Given the description of an element on the screen output the (x, y) to click on. 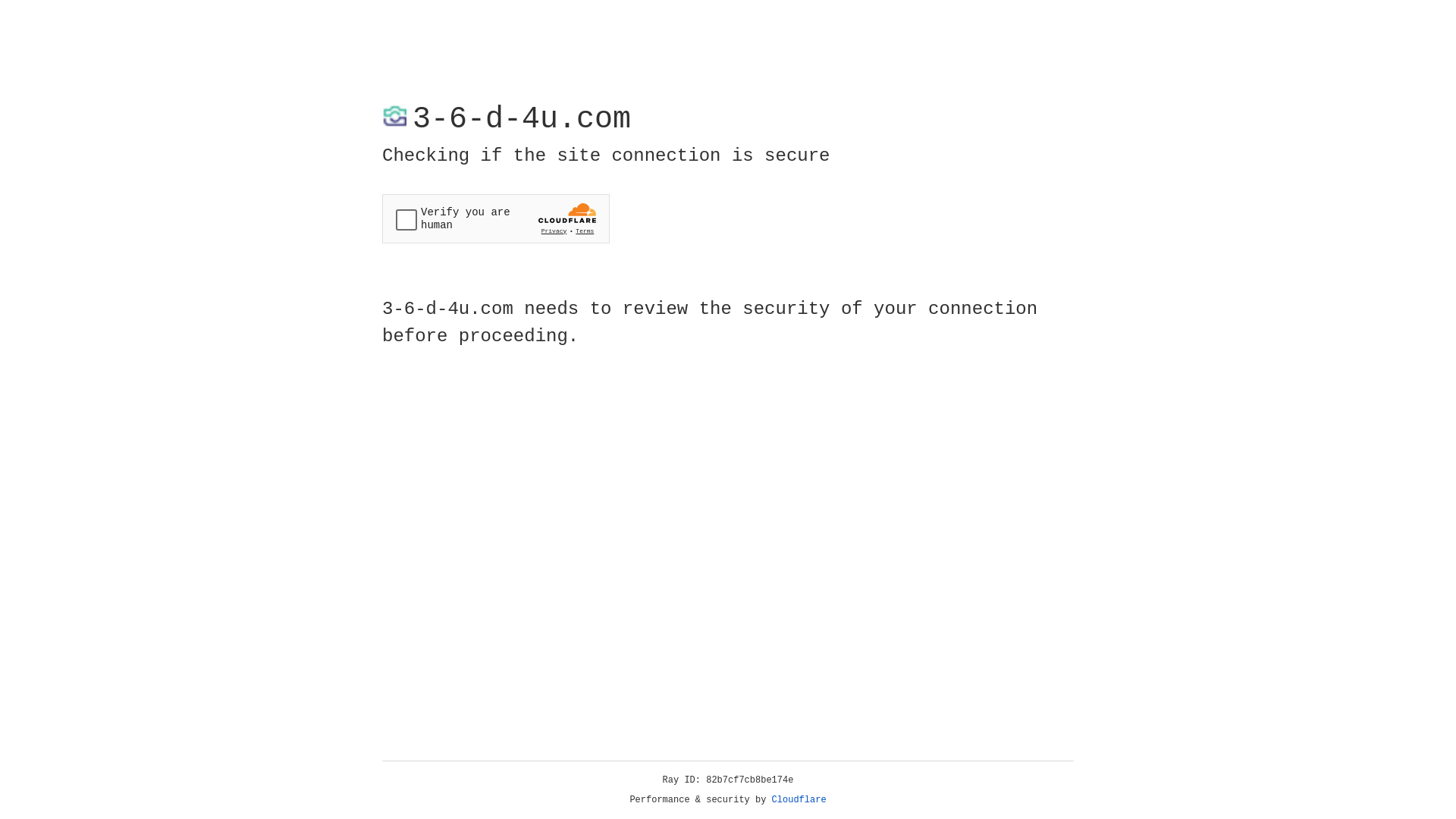
Widget containing a Cloudflare security challenge Element type: hover (495, 218)
Cloudflare Element type: text (798, 799)
